Given the description of an element on the screen output the (x, y) to click on. 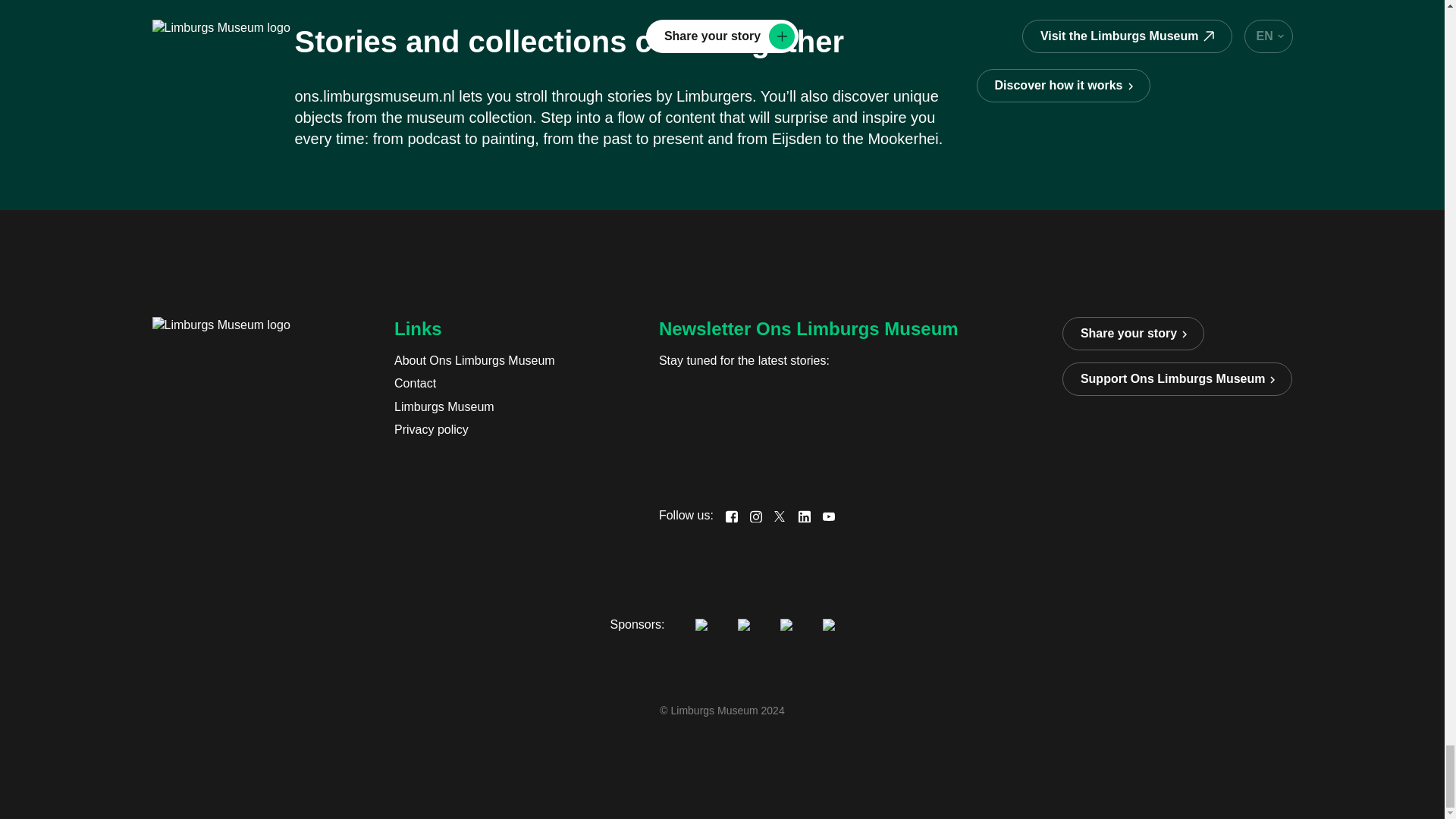
Limburgs Museum (474, 406)
Discover how it works (1063, 85)
Share your story (1133, 333)
Newsletter (772, 431)
Contact (474, 383)
About Ons Limburgs Museum (474, 360)
Privacy policy (474, 429)
Support Ons Limburgs Museum (1177, 378)
